Given the description of an element on the screen output the (x, y) to click on. 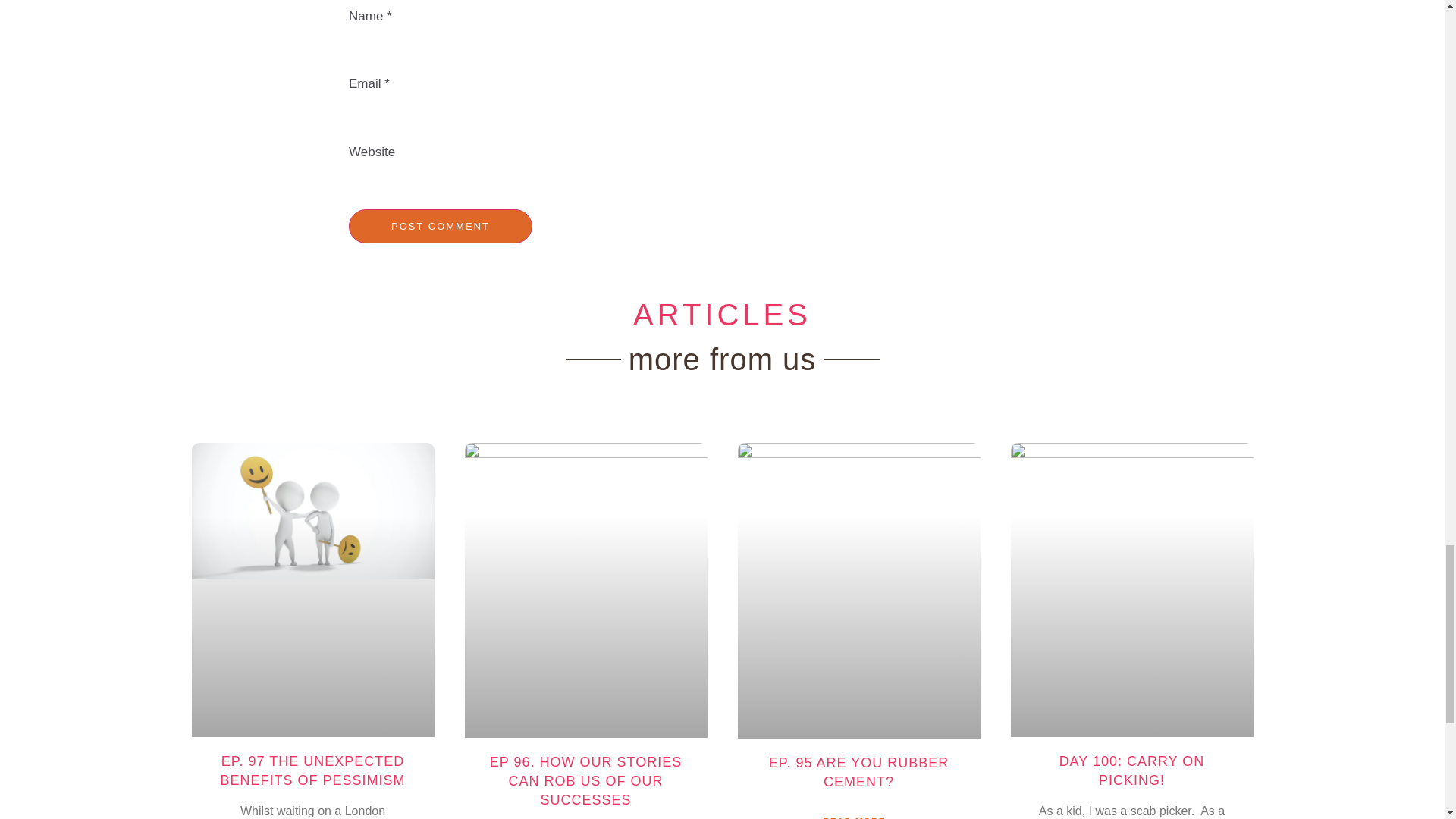
EP. 95 ARE YOU RUBBER CEMENT? (858, 772)
EP. 97 THE UNEXPECTED BENEFITS OF PESSIMISM (311, 770)
Post Comment (440, 226)
EP 96. HOW OUR STORIES CAN ROB US OF OUR SUCCESSES (585, 780)
Post Comment (440, 226)
